Given the description of an element on the screen output the (x, y) to click on. 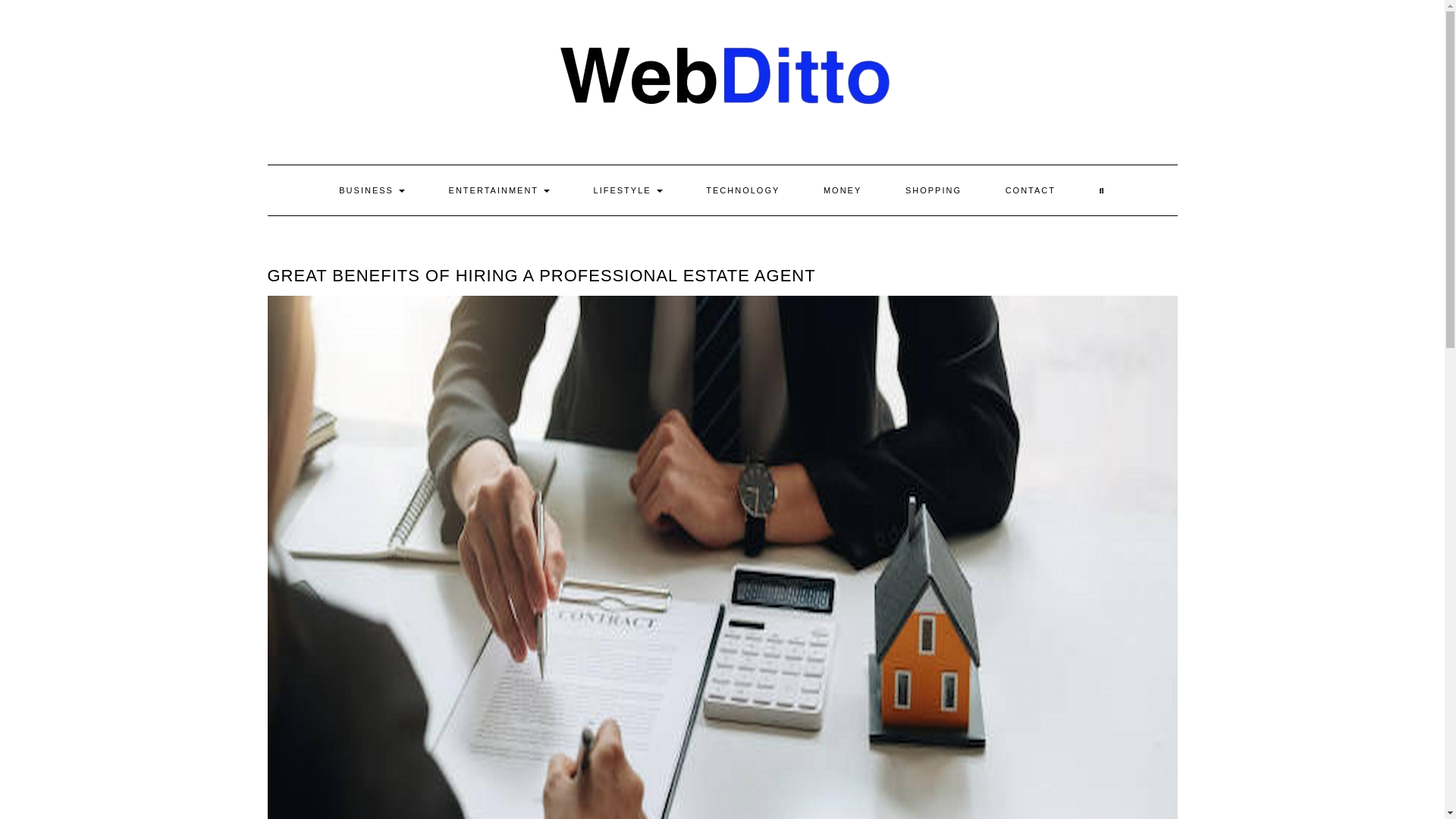
SHOPPING (933, 190)
ENTERTAINMENT (499, 190)
BUSINESS (371, 190)
CONTACT (1030, 190)
MONEY (842, 190)
TECHNOLOGY (742, 190)
LIFESTYLE (627, 190)
